Given the description of an element on the screen output the (x, y) to click on. 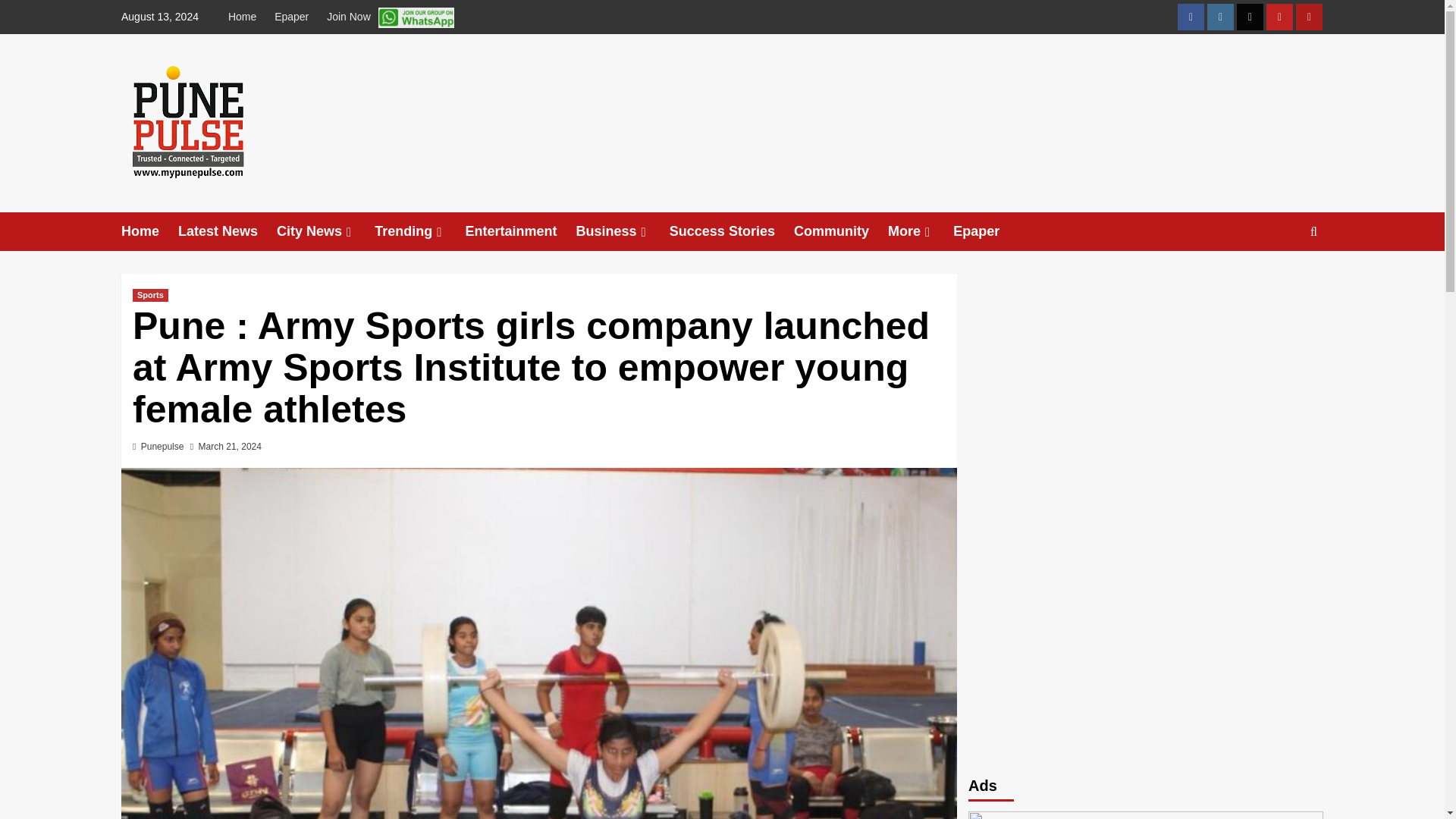
Epaper (290, 17)
Twitter (1249, 17)
Entertainment (520, 231)
Youtube (1279, 17)
Home (148, 231)
Latest News (226, 231)
Trending (419, 231)
Telegram (1308, 17)
Community (840, 231)
Success Stories (731, 231)
